Given the description of an element on the screen output the (x, y) to click on. 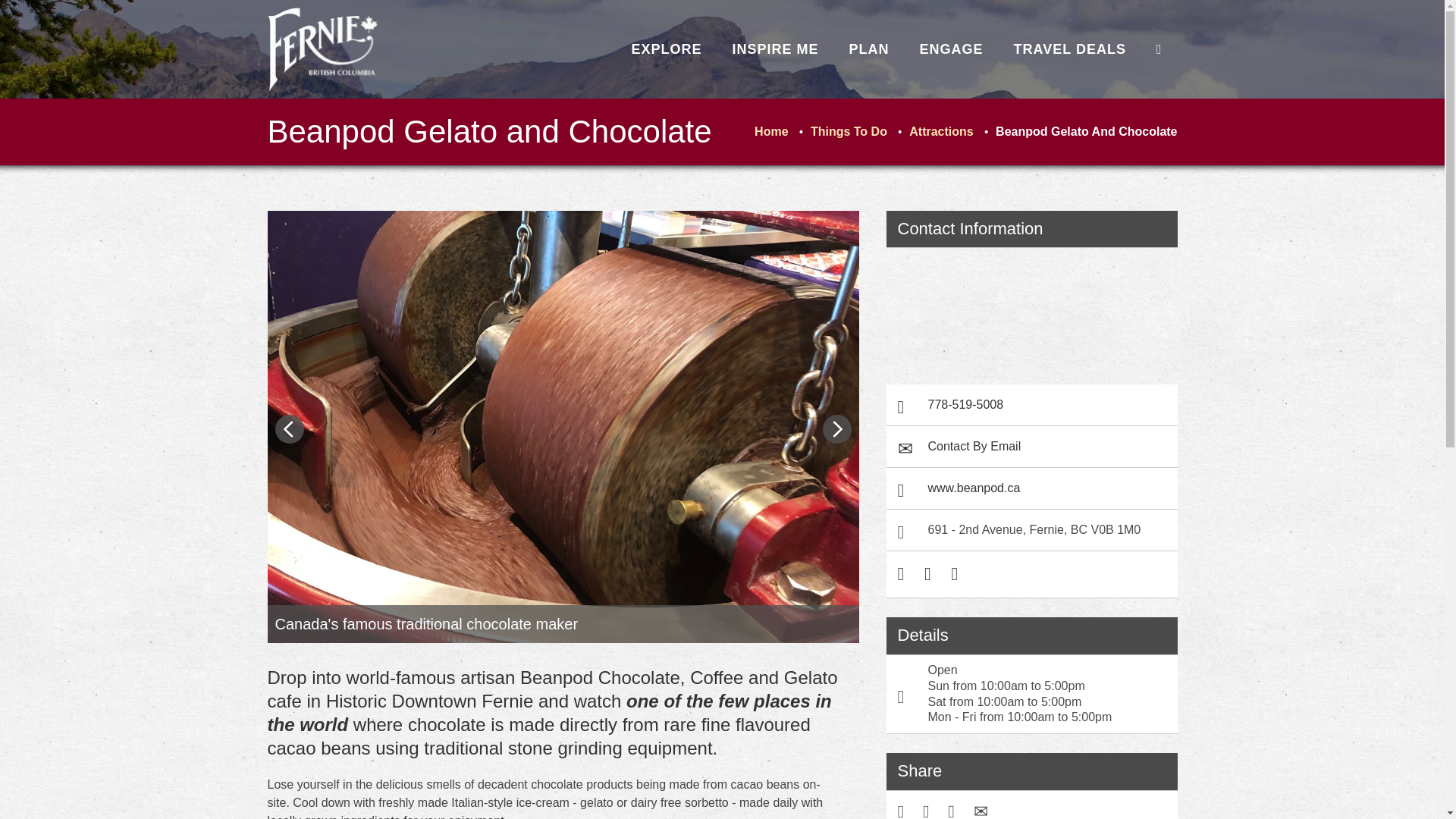
EXPLORE (665, 49)
Tourism Fernie Home Page (321, 48)
ENGAGE (951, 49)
TRAVEL DEALS (1069, 49)
INSPIRE ME (775, 49)
